Given the description of an element on the screen output the (x, y) to click on. 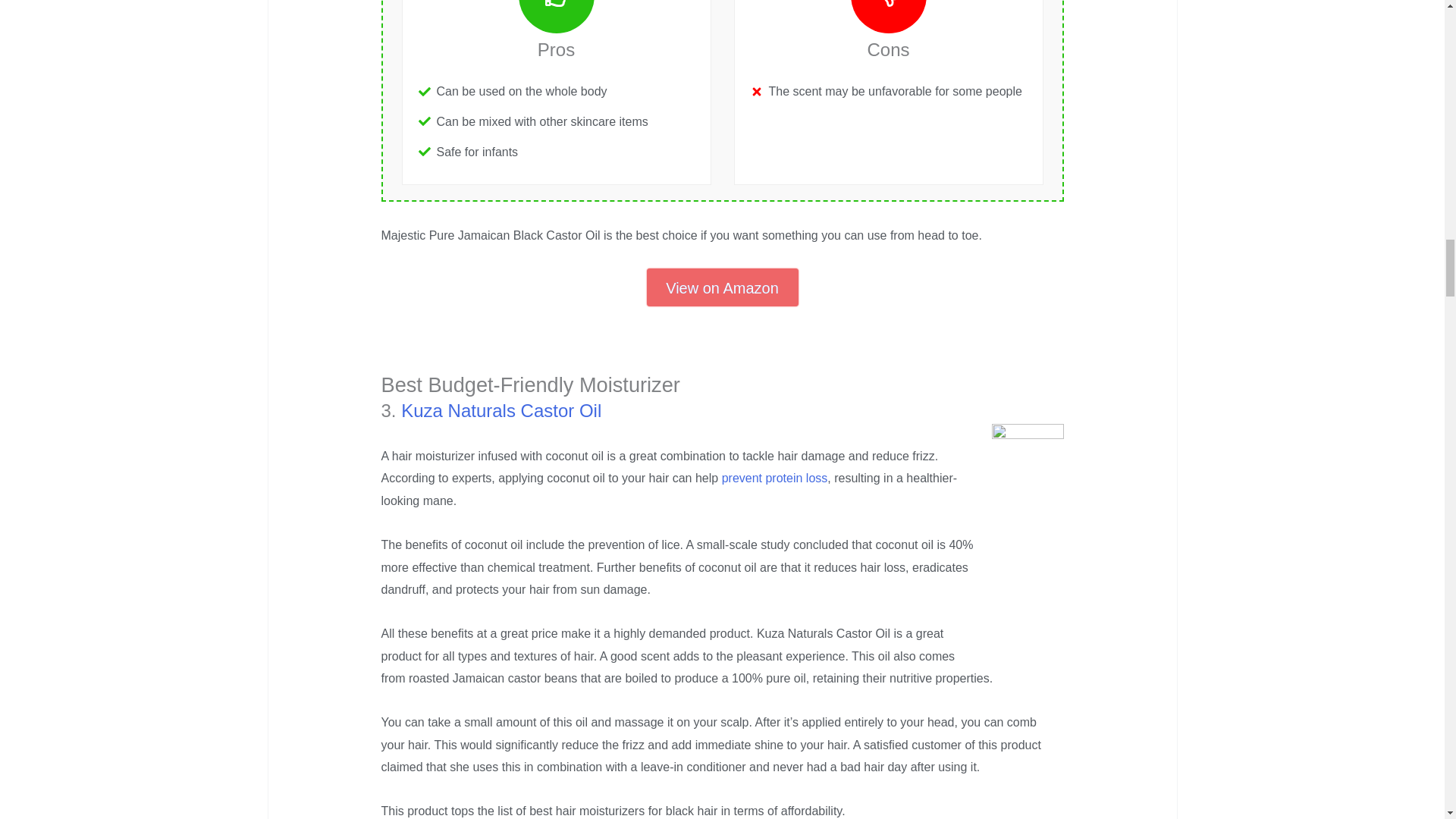
prevent protein loss (775, 477)
Kuza Naturals Castor Oil (501, 410)
View on Amazon (721, 287)
